Given the description of an element on the screen output the (x, y) to click on. 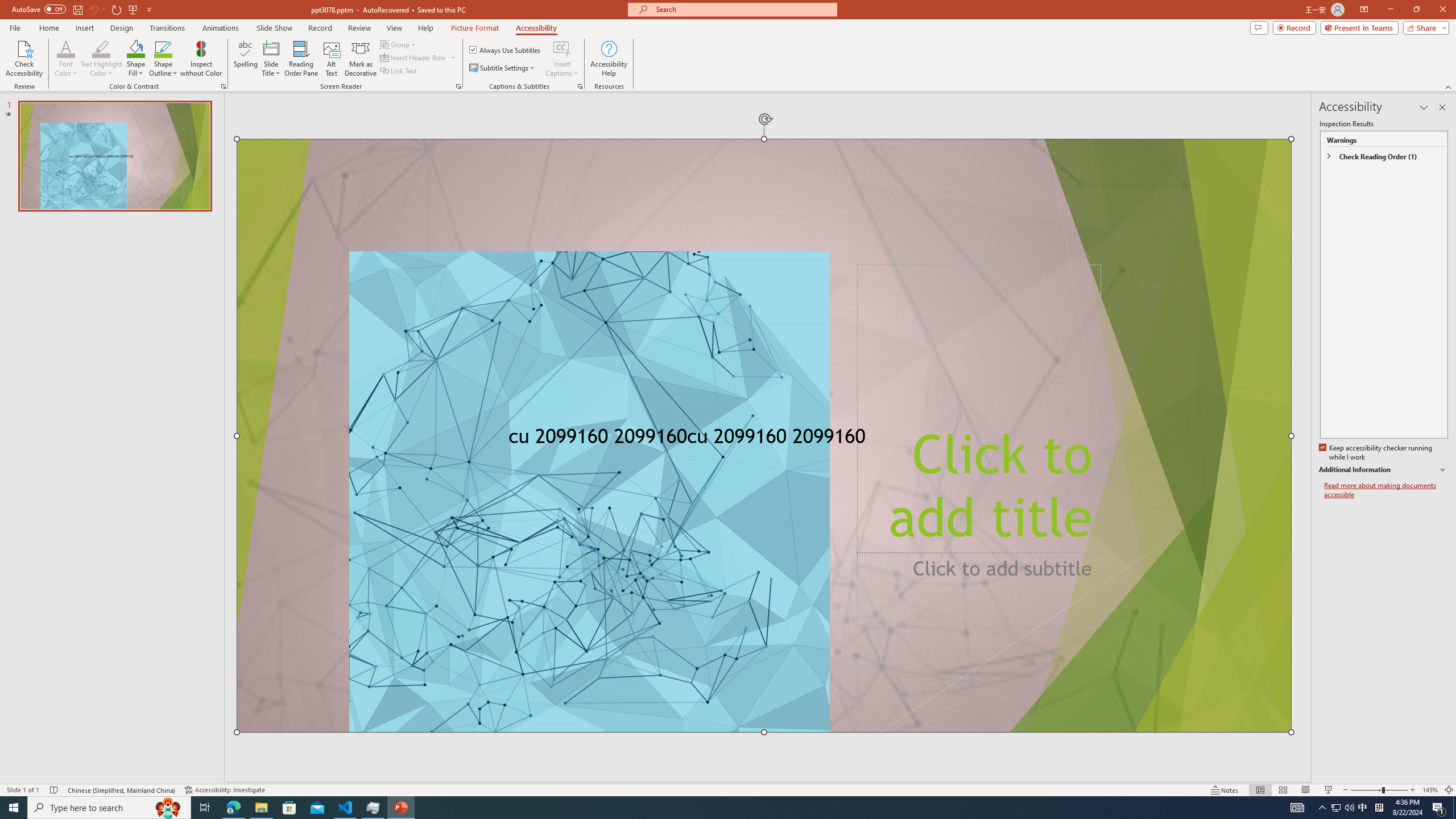
Mark as Decorative (360, 58)
Captions & Subtitles (580, 85)
